Given the description of an element on the screen output the (x, y) to click on. 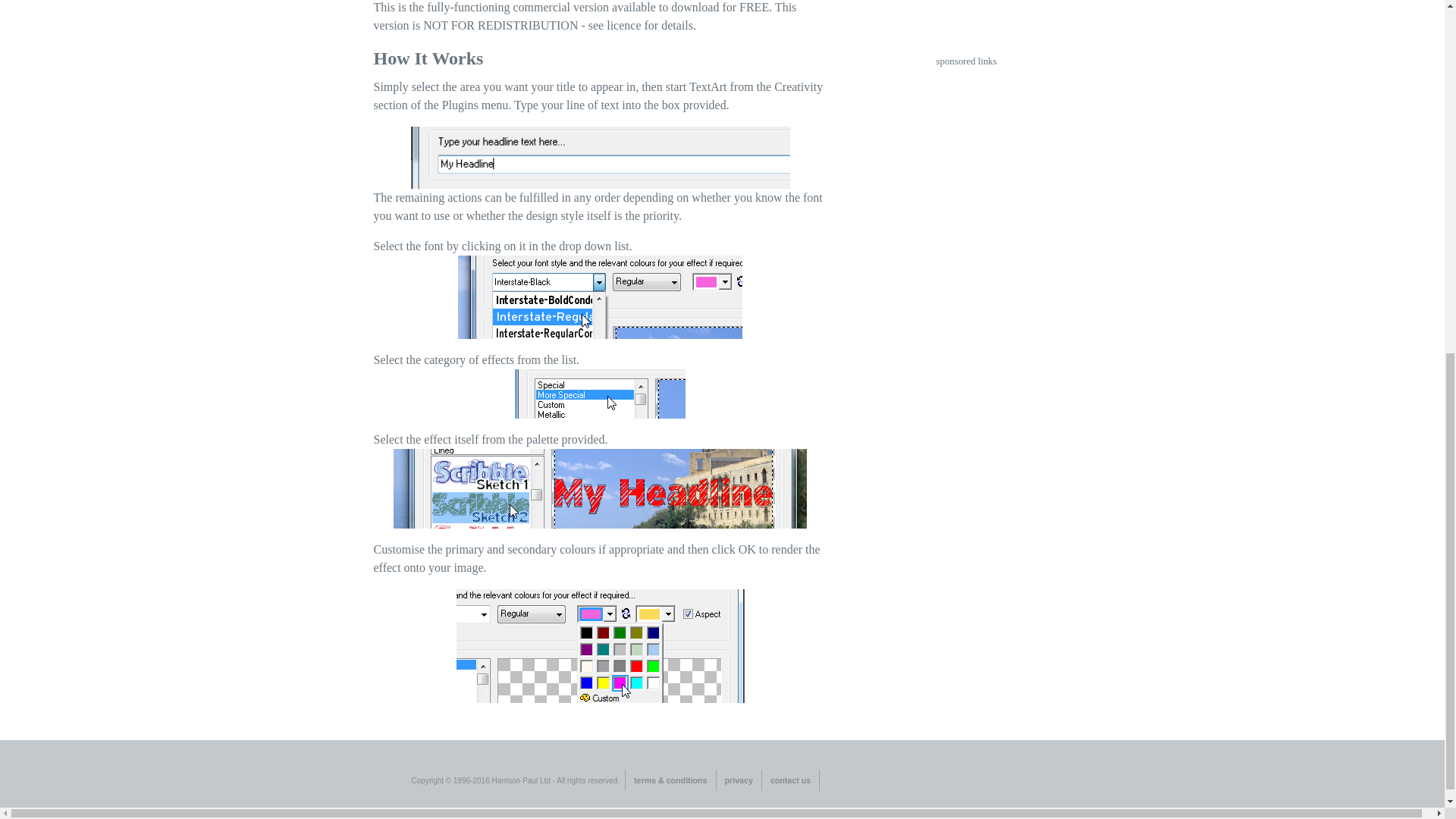
privacy (738, 780)
textArt plugin select effect screenshot (599, 488)
textArt plugin select font screenshot (600, 297)
textArt plugin select category screenshot (600, 393)
textArt plugin screenshot 1 (600, 157)
contact us (790, 780)
